Given the description of an element on the screen output the (x, y) to click on. 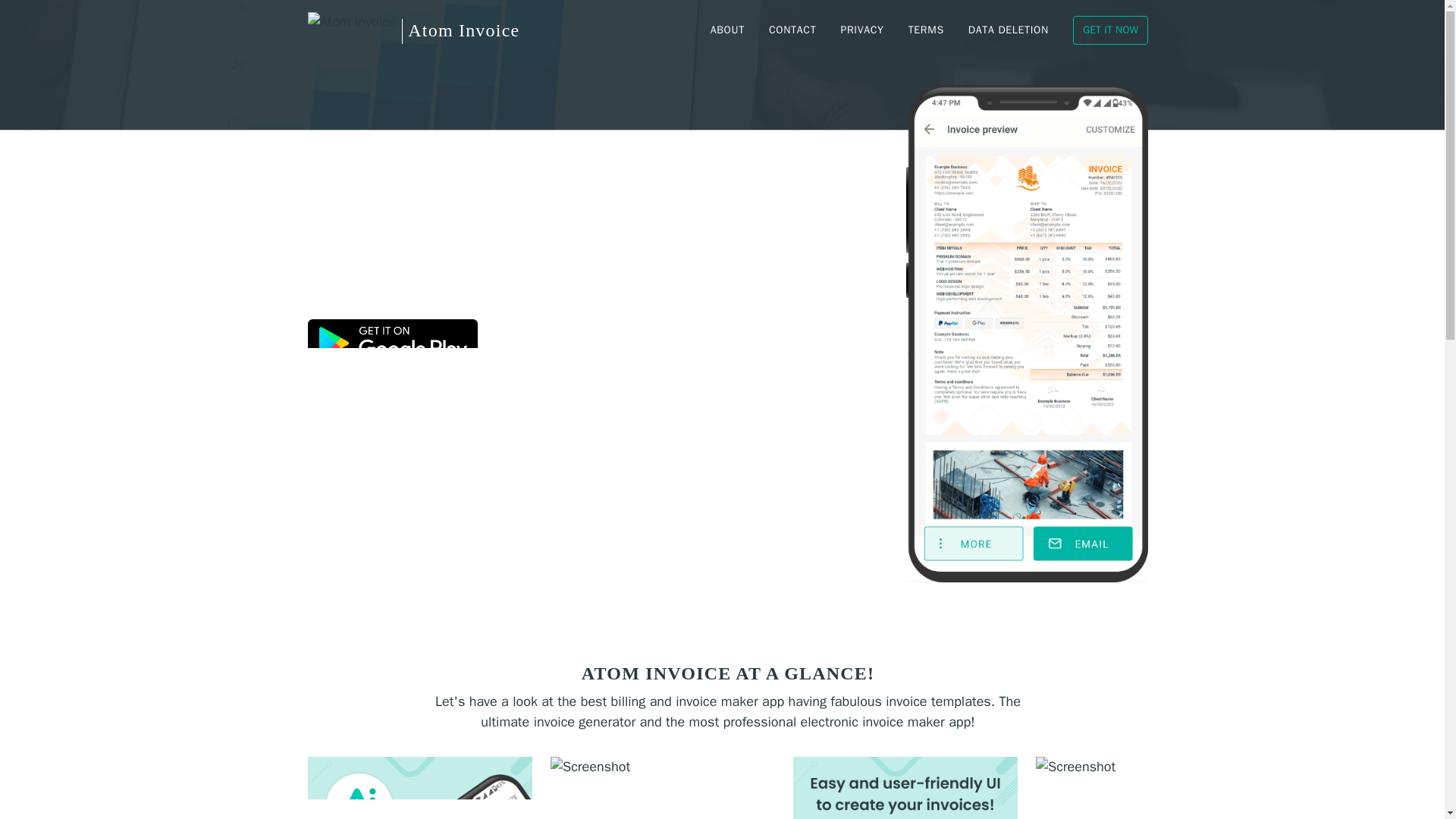
ABOUT (727, 29)
PRIVACY (861, 29)
CONTACT (792, 29)
Atom Invoice (413, 30)
GET IT NOW (1110, 30)
DATA DELETION (1008, 29)
TERMS (926, 29)
